Given the description of an element on the screen output the (x, y) to click on. 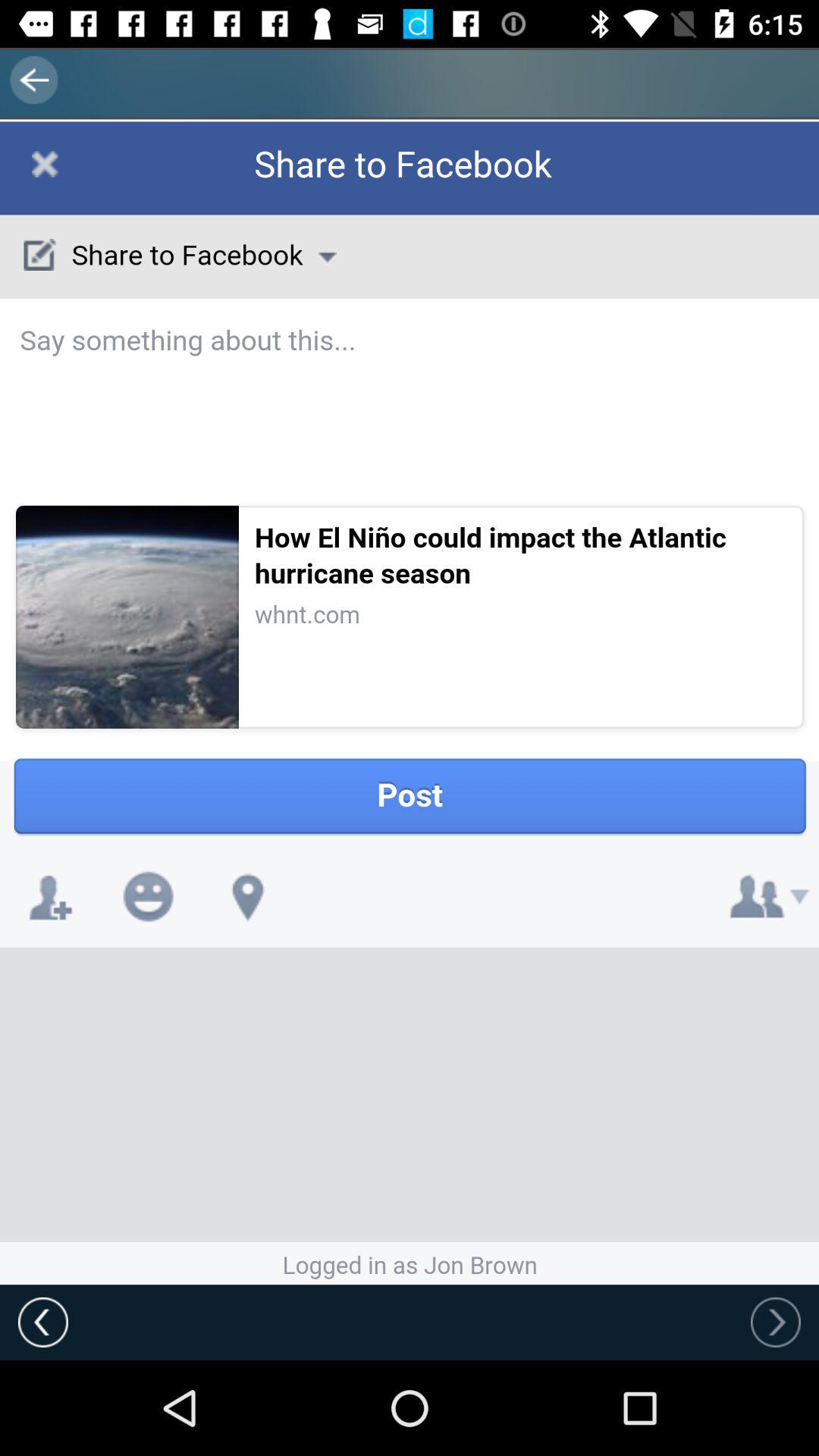
close share (99, 182)
